Given the description of an element on the screen output the (x, y) to click on. 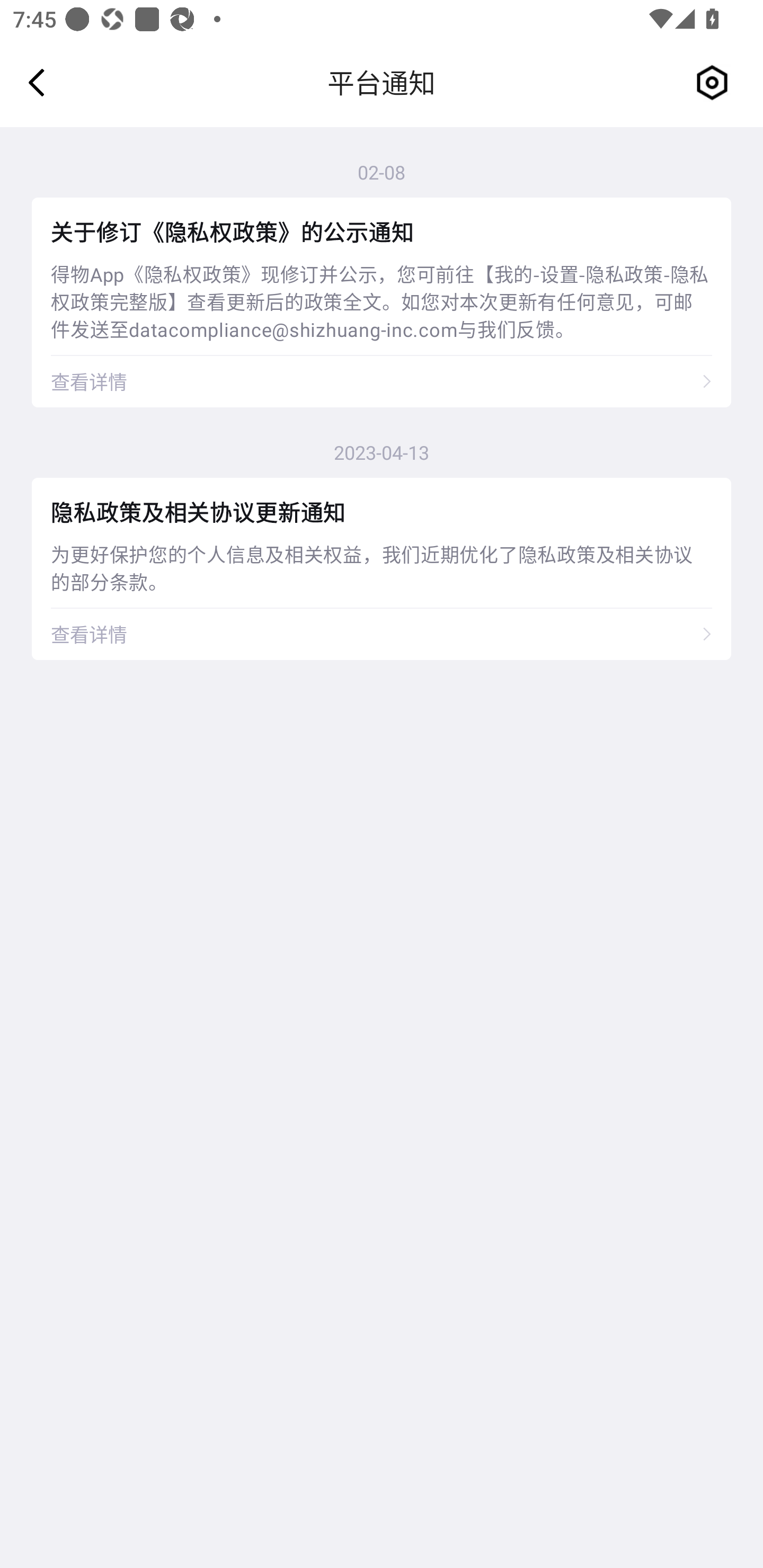
Navigate up (36, 82)
